Given the description of an element on the screen output the (x, y) to click on. 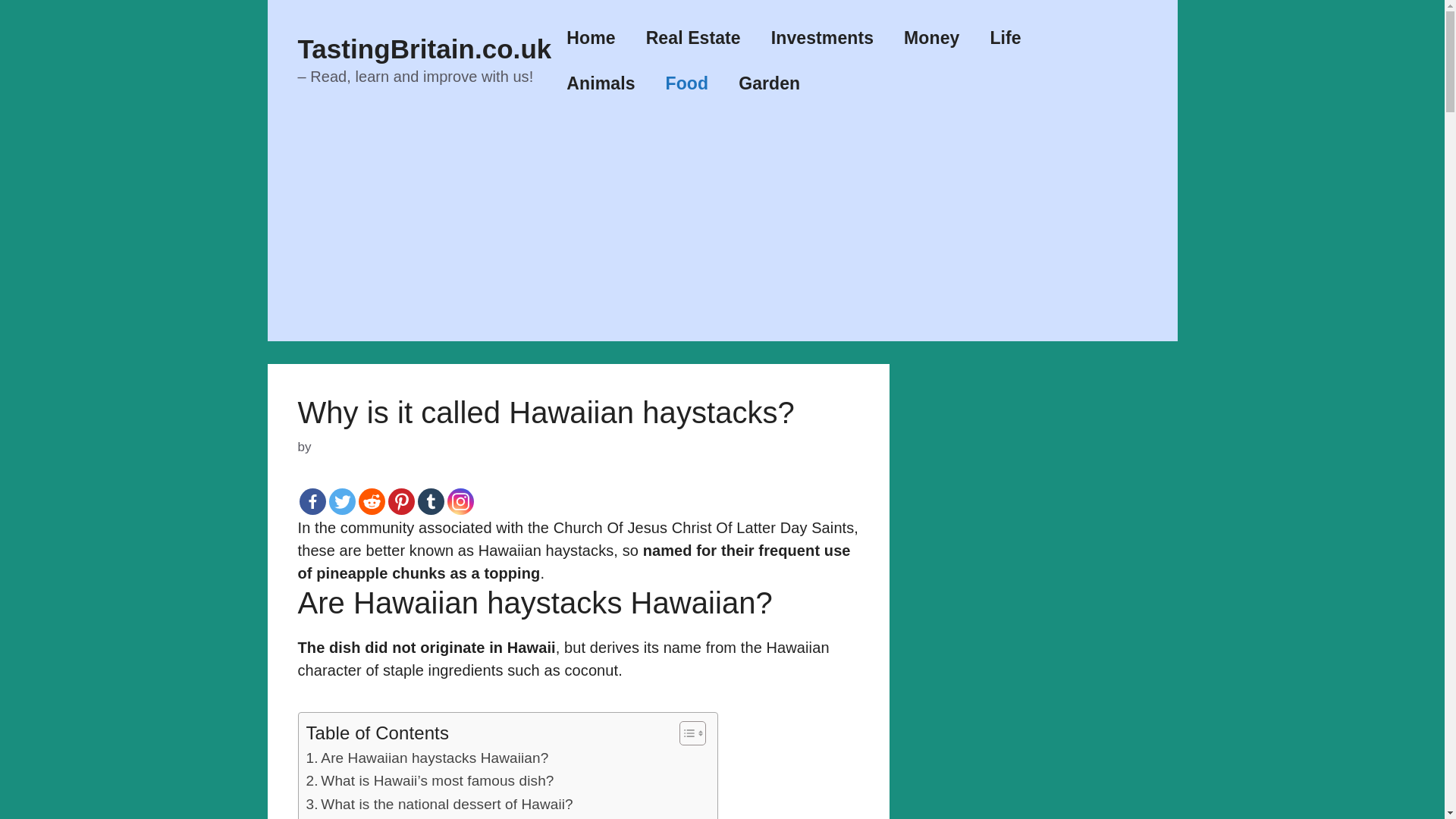
Pinterest (401, 501)
What is the national dessert of Hawaii? (439, 804)
Facebook (311, 501)
Garden (769, 83)
Are Hawaiian haystacks Hawaiian? (426, 757)
Life (1004, 37)
Food (686, 83)
Tumblr (430, 501)
Are Hawaiian haystacks Hawaiian? (426, 757)
